Given the description of an element on the screen output the (x, y) to click on. 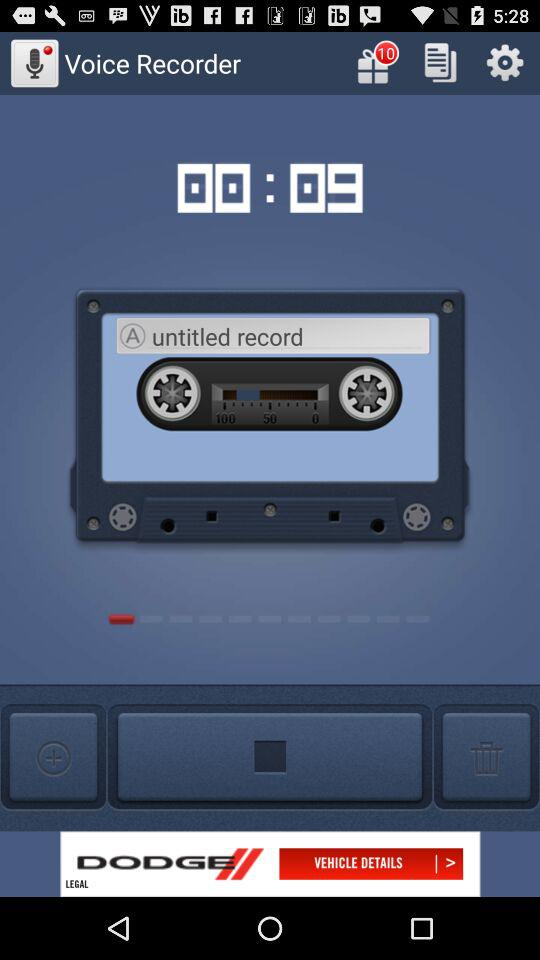
save button (440, 62)
